Given the description of an element on the screen output the (x, y) to click on. 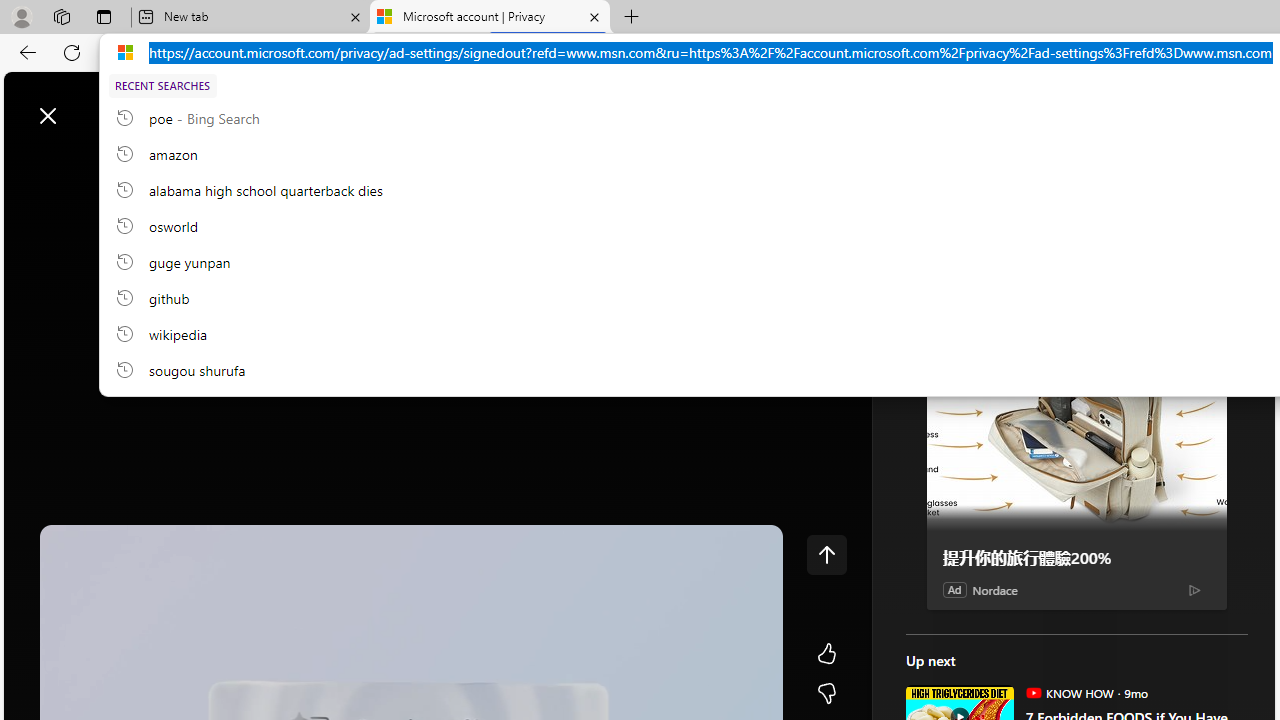
MetDaan (912, 170)
Enter your search term (644, 106)
Open settings (1230, 105)
Microsoft account | Privacy (490, 17)
Personalize (1195, 162)
About (987, 114)
Class: control icon-only (826, 554)
Web search (283, 105)
